Given the description of an element on the screen output the (x, y) to click on. 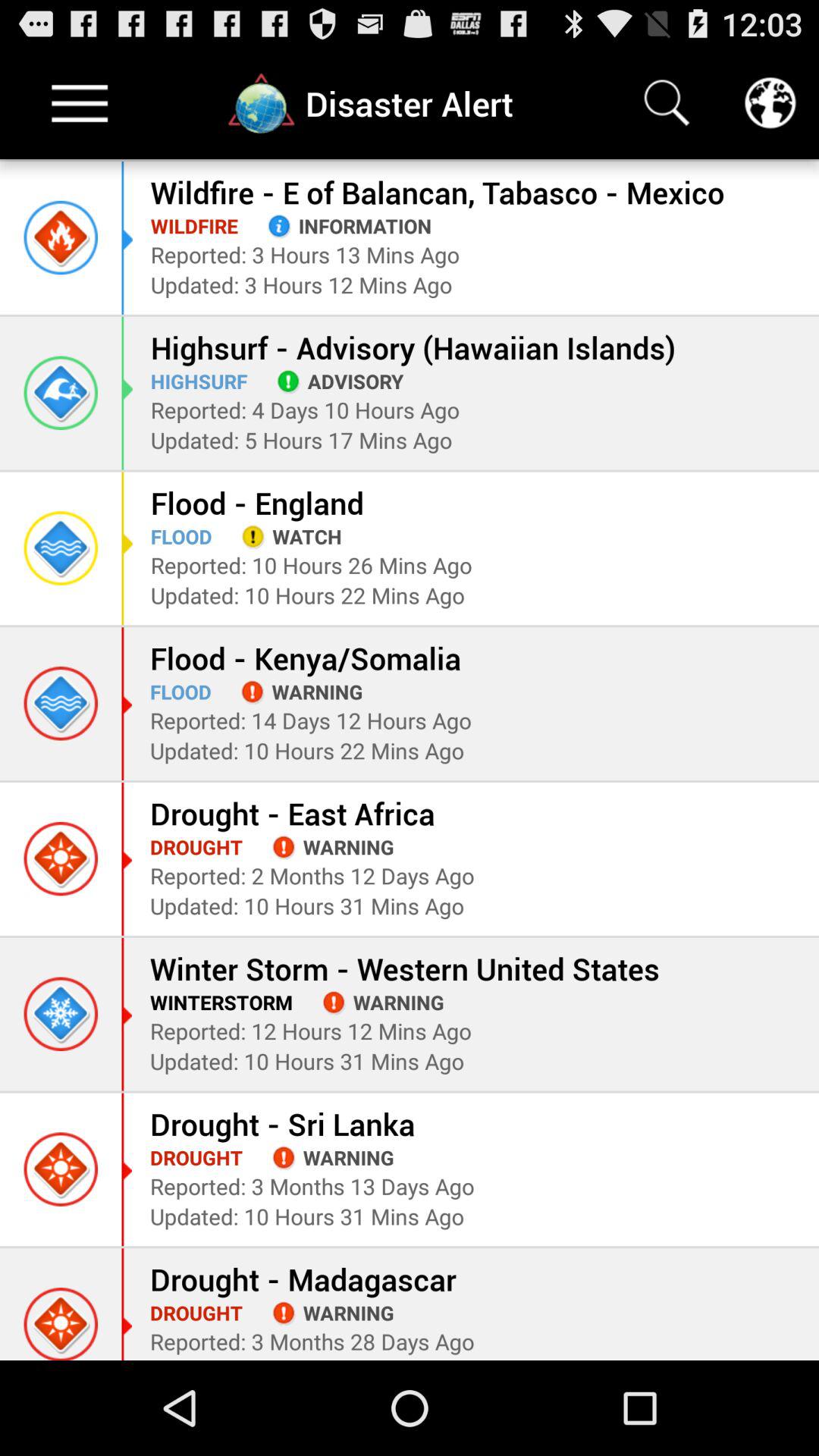
expand menu (79, 103)
